Given the description of an element on the screen output the (x, y) to click on. 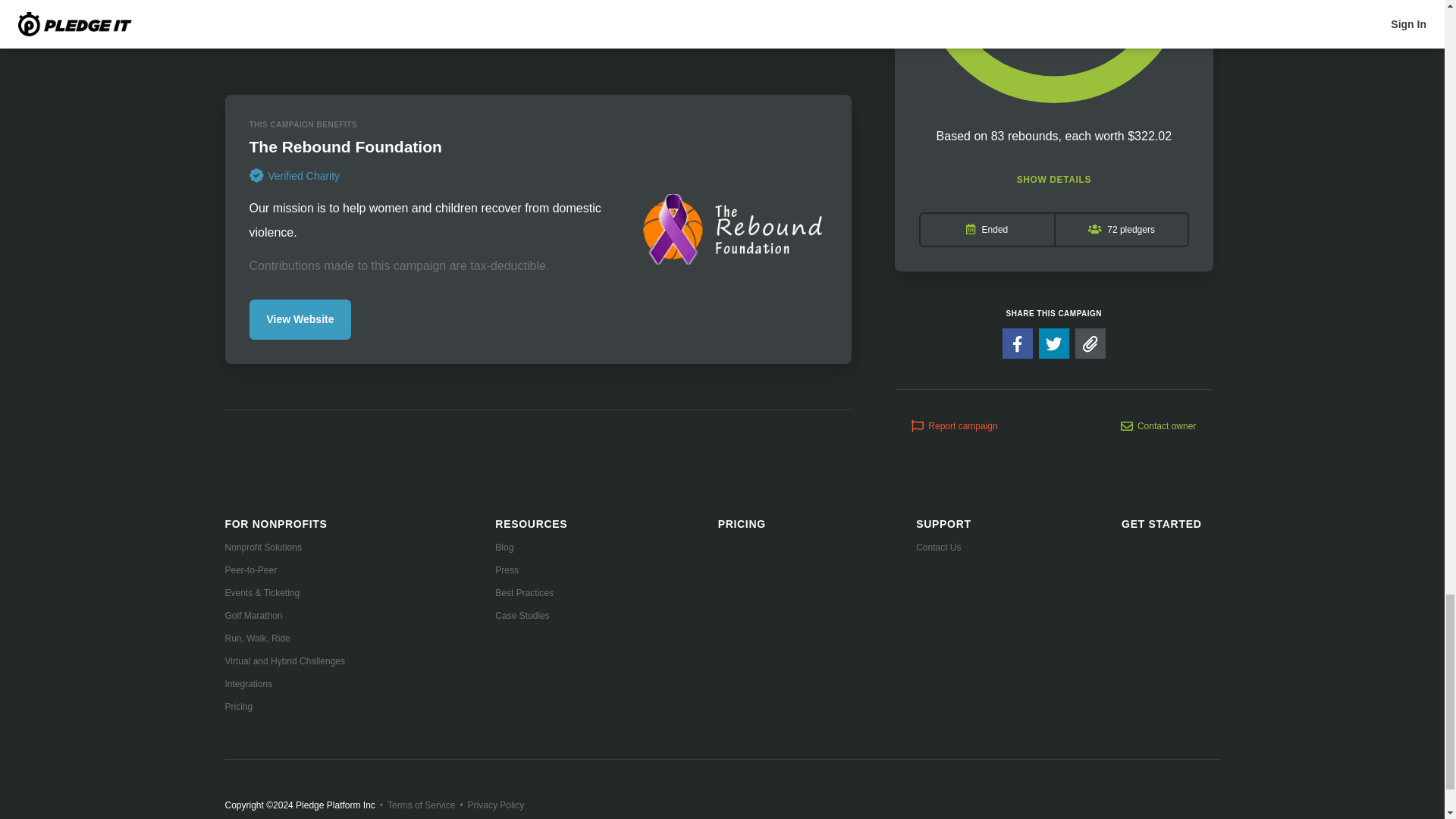
FOR NONPROFITS (275, 524)
VIEW ALL 11 FUNDRAISERS (537, 40)
PRICING (741, 523)
Nonprofit Solutions (284, 547)
Integrations (284, 684)
View Website (300, 319)
Best Practices (531, 592)
Terms of Service (420, 805)
Blog (531, 547)
Peer-to-Peer (284, 570)
